Given the description of an element on the screen output the (x, y) to click on. 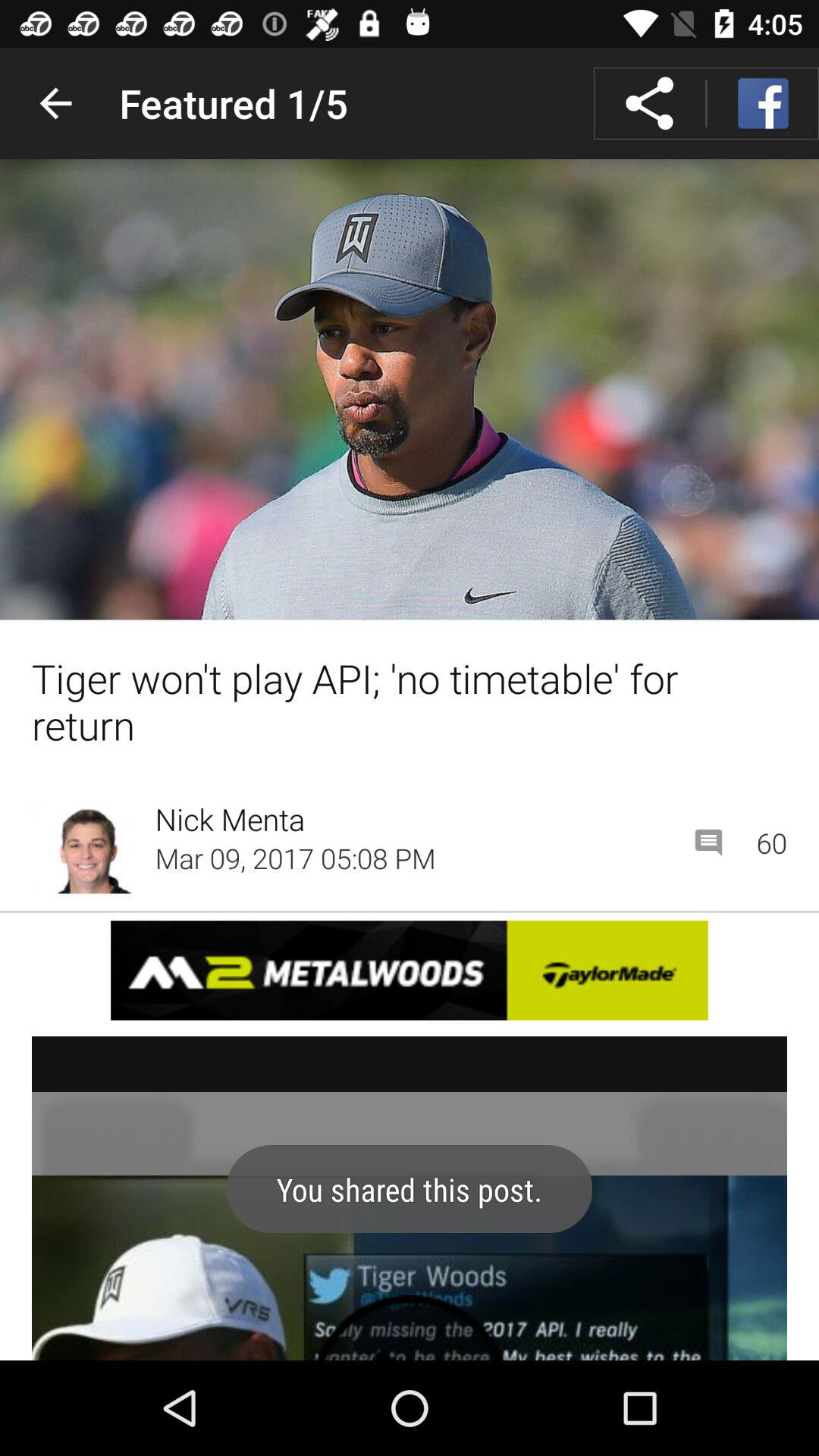
advertisement (409, 970)
